Given the description of an element on the screen output the (x, y) to click on. 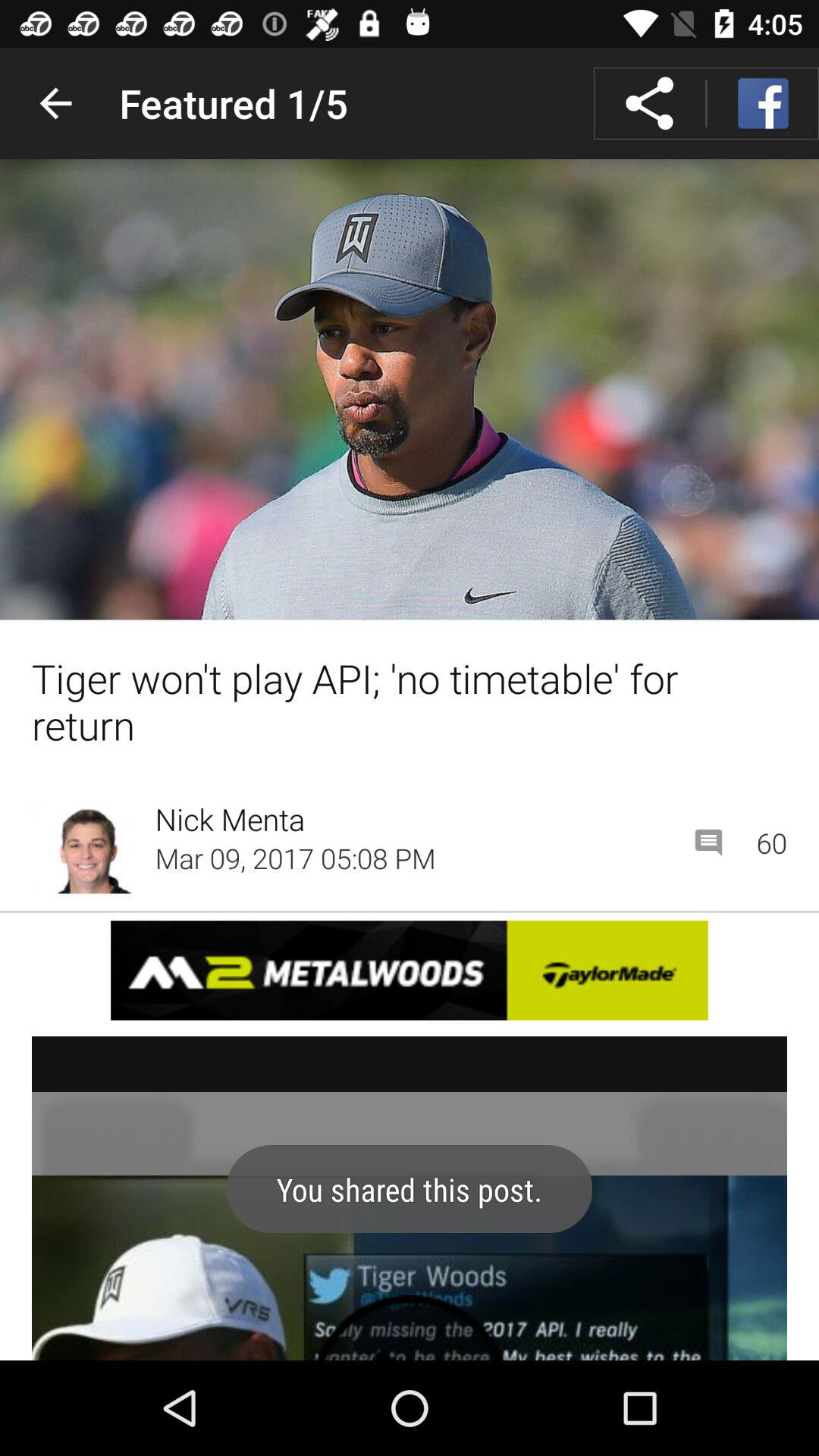
advertisement (409, 970)
